Given the description of an element on the screen output the (x, y) to click on. 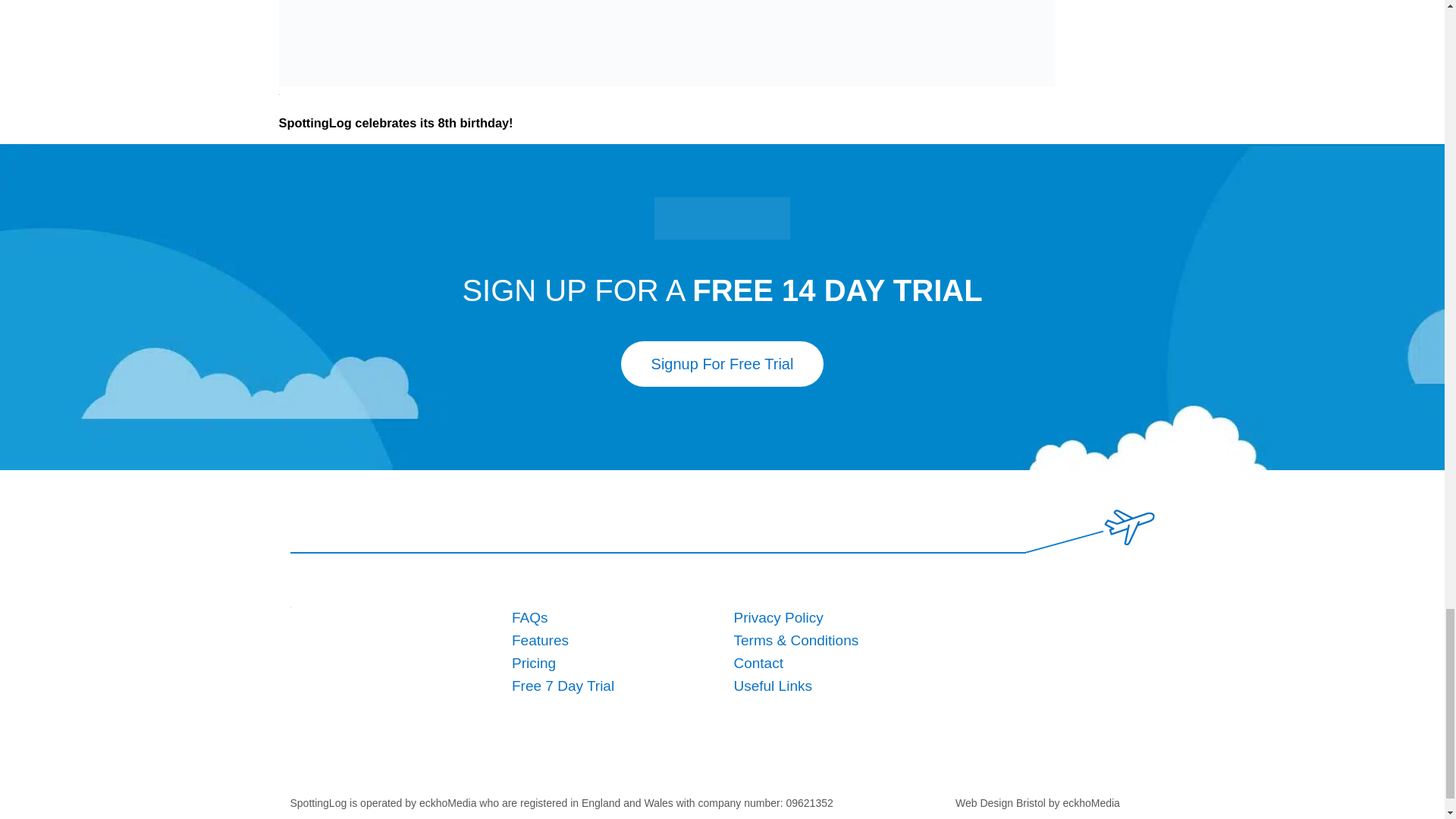
Useful Links (772, 685)
Features (540, 640)
Signup For Free Trial (722, 363)
FAQs (530, 617)
SpottingLog celebrates its 8th birthday! (667, 43)
Free 7 Day Trial (563, 685)
Pricing (534, 662)
SpottingLog celebrates its 8th birthday! (396, 121)
Contact (758, 662)
Privacy Policy (777, 617)
